Given the description of an element on the screen output the (x, y) to click on. 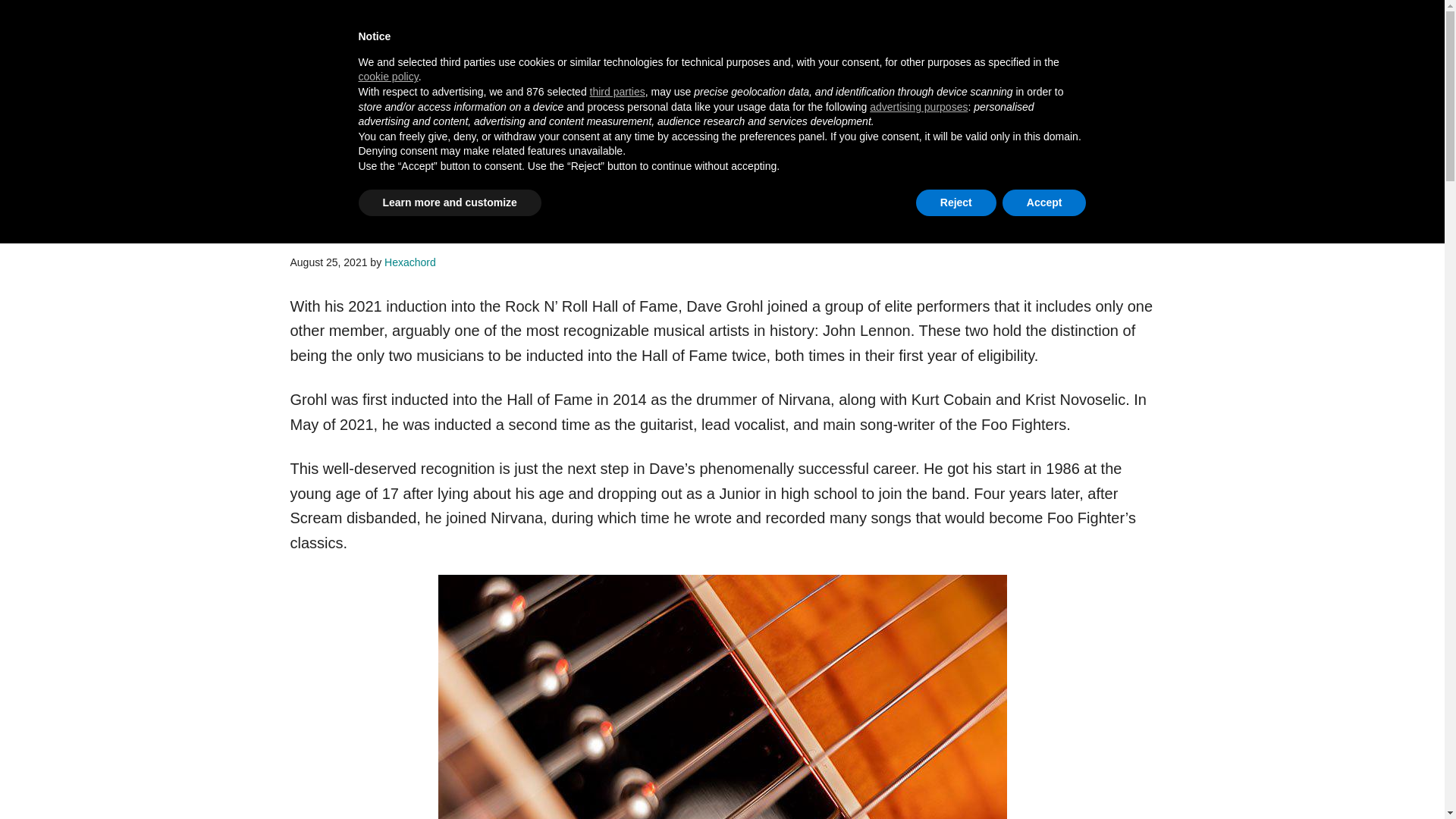
HEXACHORD (406, 63)
GUITAR STRAPS (726, 130)
HOME (320, 130)
GUITARS (498, 130)
PEDALS (632, 130)
AMPS (566, 130)
Hexachord.net Home Page (320, 130)
LEARN GUITAR (406, 130)
